Given the description of an element on the screen output the (x, y) to click on. 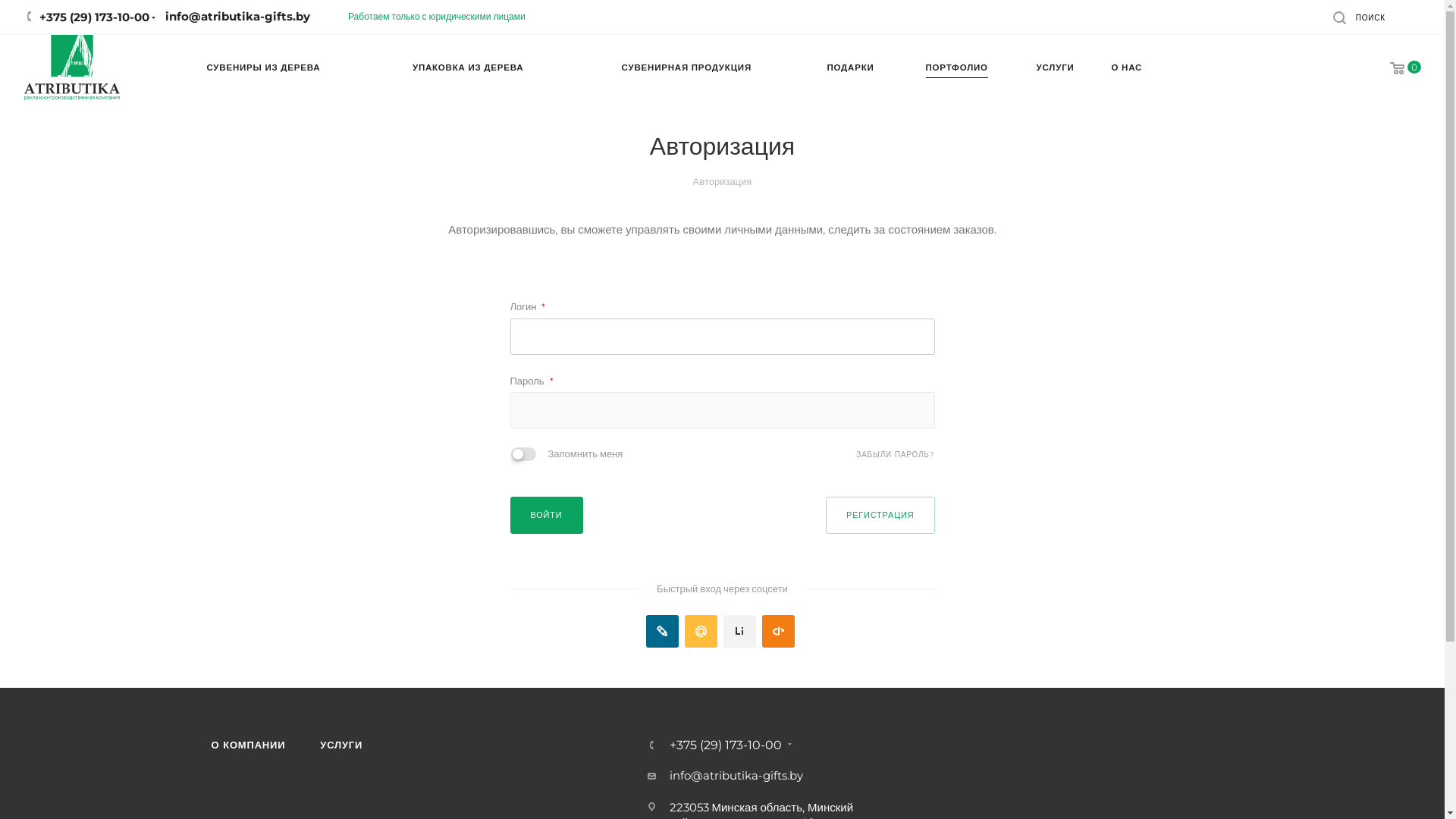
Mail.Ru OpenID Element type: hover (700, 631)
OpenID Element type: hover (778, 631)
0 Element type: text (1394, 68)
info@atributika-gifts.by Element type: text (735, 775)
+375 (29) 173-10-00 Element type: text (724, 745)
Livejournal Element type: hover (662, 631)
Liveinternet Element type: hover (739, 631)
